Given the description of an element on the screen output the (x, y) to click on. 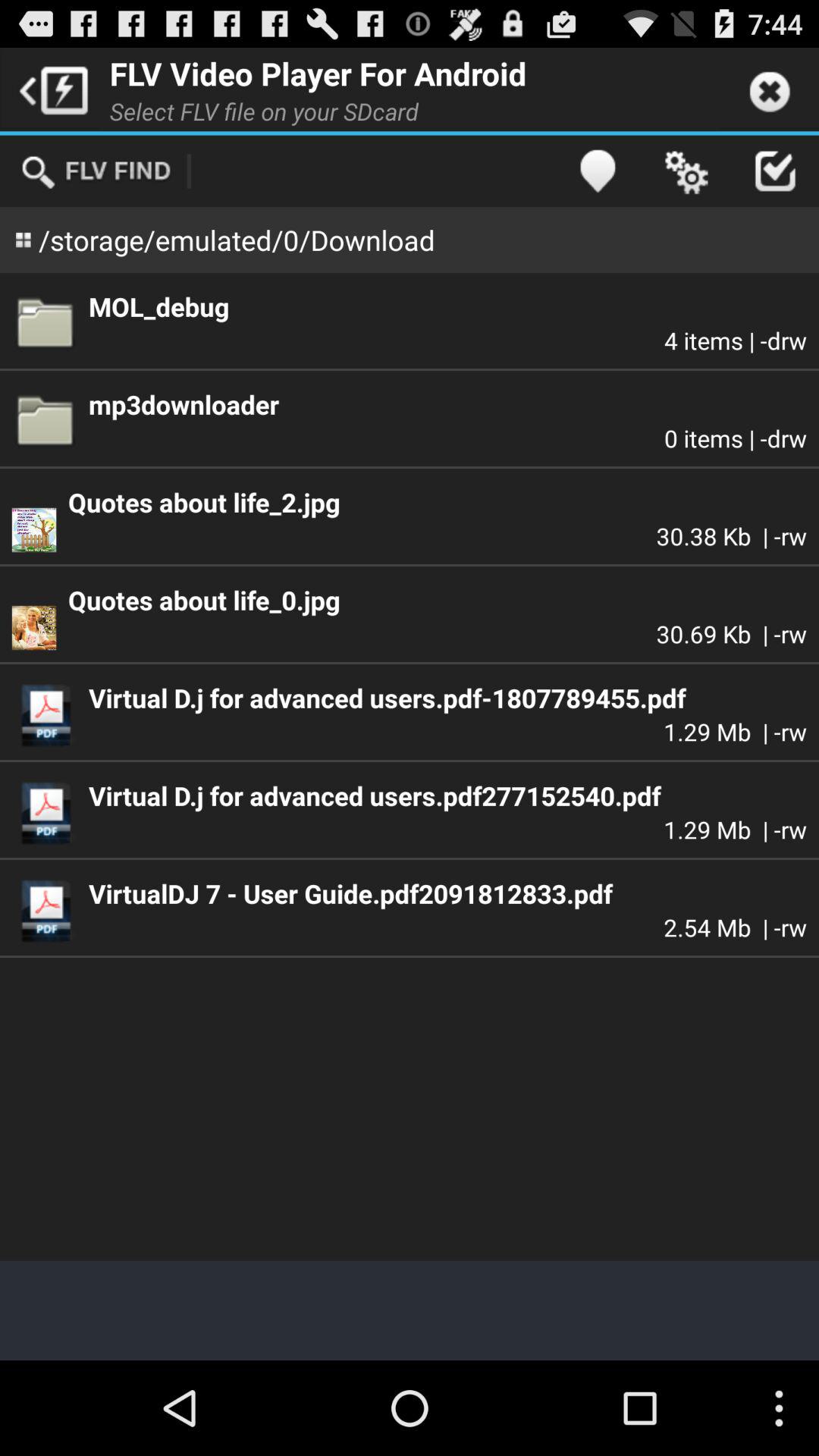
launch the virtualdj 7 user icon (447, 893)
